Given the description of an element on the screen output the (x, y) to click on. 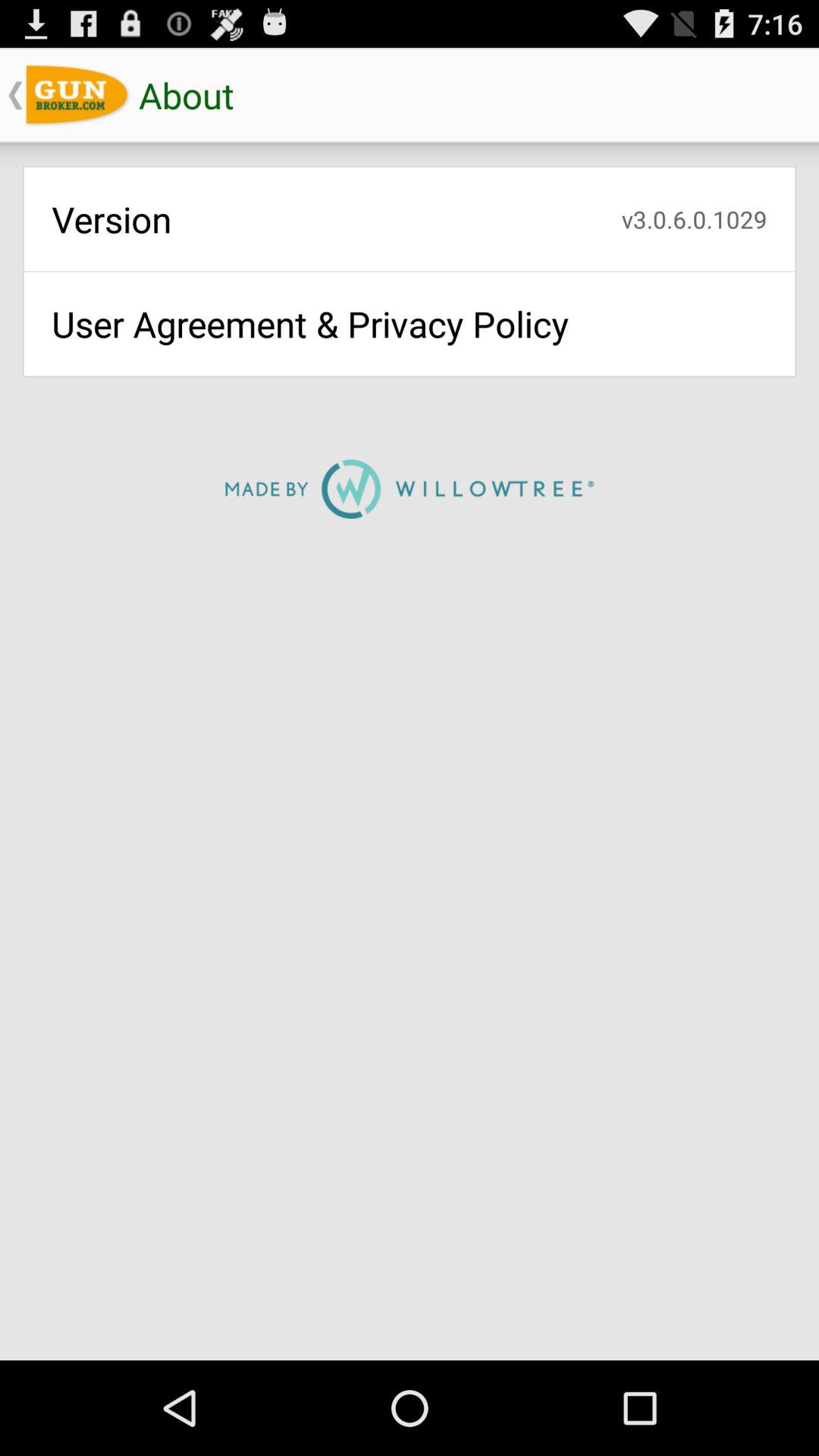
launch the icon below user agreement privacy app (409, 488)
